Given the description of an element on the screen output the (x, y) to click on. 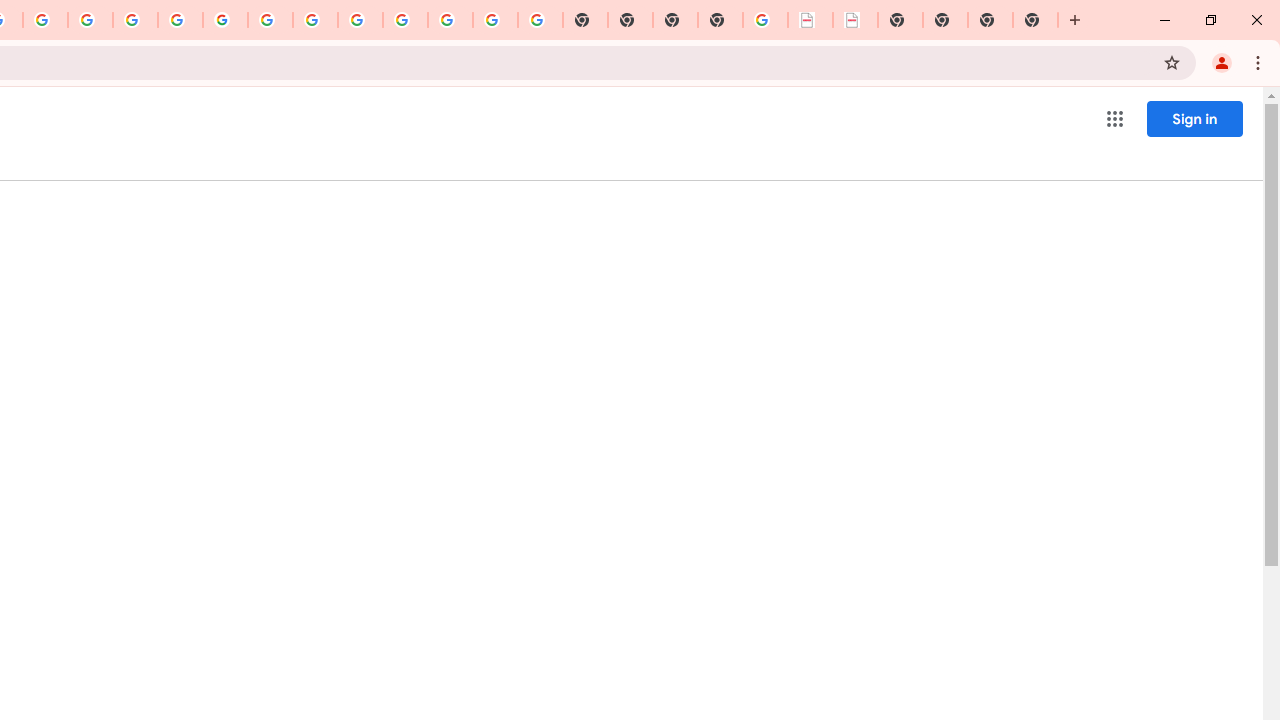
YouTube (270, 20)
Privacy Help Center - Policies Help (134, 20)
LAAD Defence & Security 2025 | BAE Systems (810, 20)
Google Images (540, 20)
Privacy Help Center - Policies Help (89, 20)
